Given the description of an element on the screen output the (x, y) to click on. 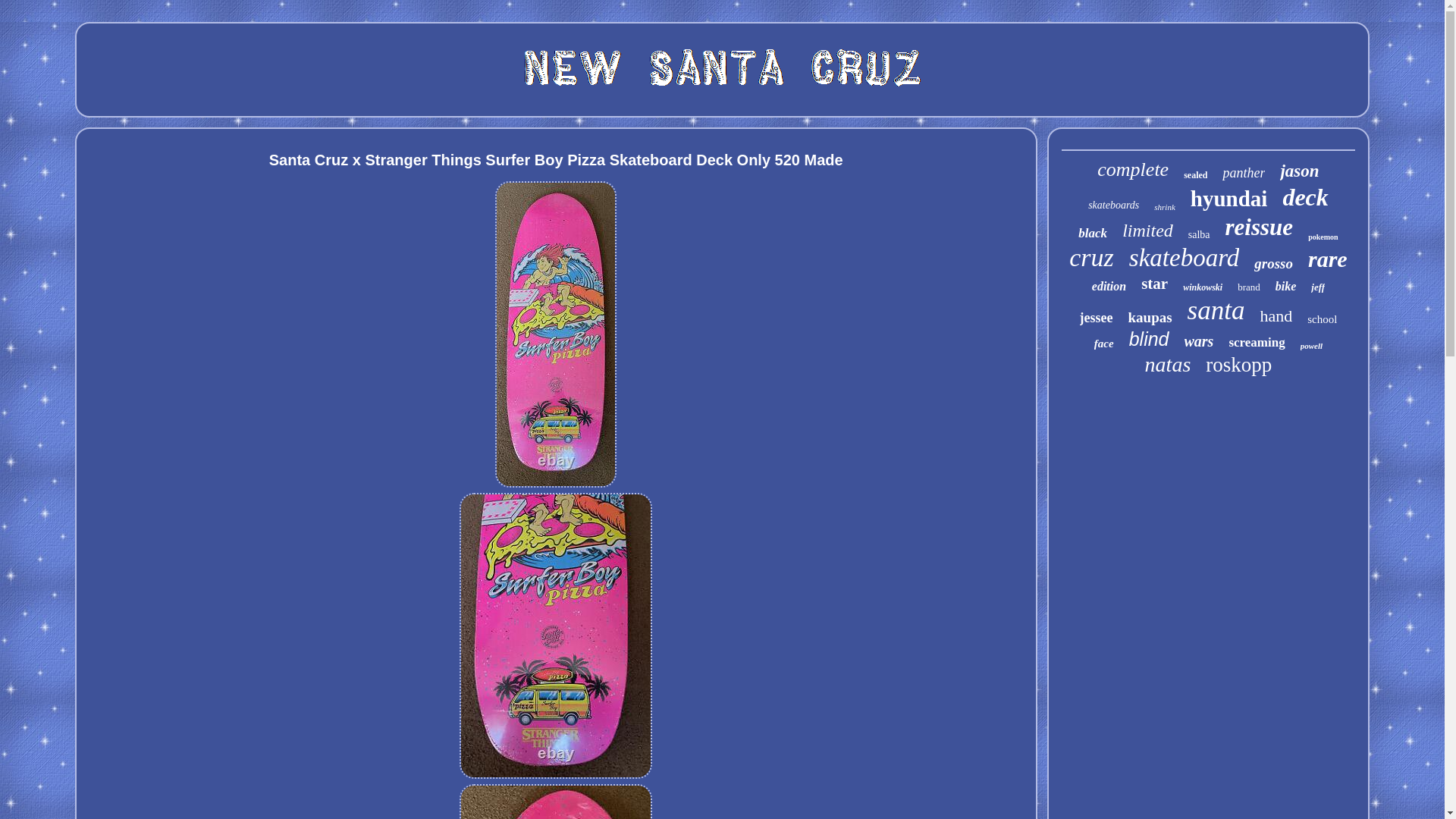
salba (1198, 234)
black (1092, 233)
sealed (1195, 174)
pokemon (1322, 236)
panther (1244, 172)
hyundai (1229, 198)
brand (1248, 287)
bike (1286, 286)
kaupas (1150, 317)
limited (1147, 230)
deck (1304, 197)
cruz (1090, 257)
star (1154, 283)
grosso (1272, 263)
